Given the description of an element on the screen output the (x, y) to click on. 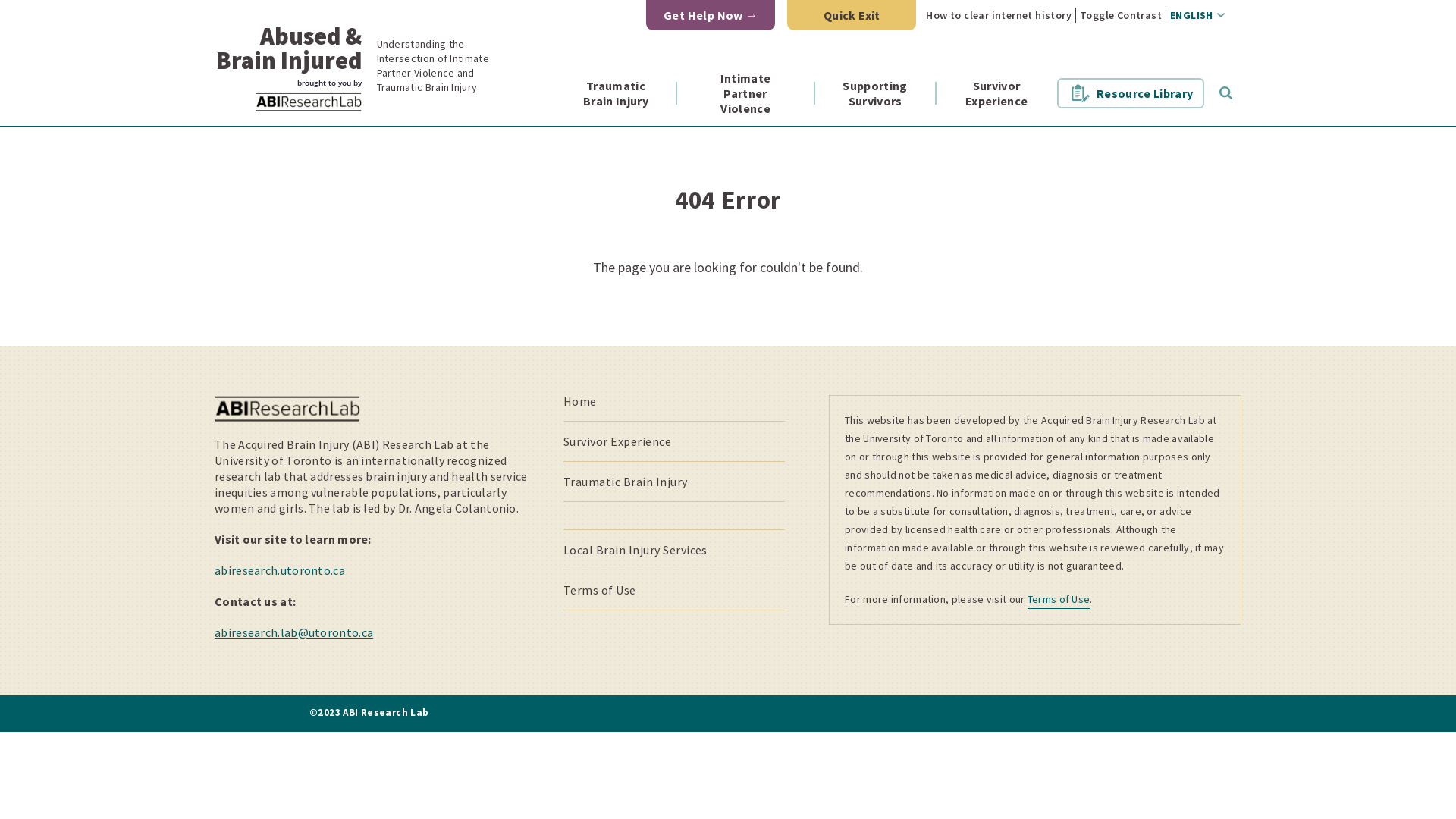
Survivor Experience Element type: text (996, 93)
ENGLISH Element type: text (1195, 14)
Terms of Use Element type: text (599, 589)
Quick Exit Element type: text (851, 15)
abi research lab Element type: text (307, 101)
Traumatic Brain Injury Element type: text (615, 93)
abiresearch.lab@utoronto.ca Element type: text (293, 632)
How to clear internet history Element type: text (998, 14)
abiresearch.utoronto.ca Element type: text (279, 569)
Home Element type: text (579, 400)
Survivor Experience Element type: text (617, 440)
Intimate Partner Violence Element type: text (745, 93)
Local Brain Injury Services Element type: text (635, 549)
Toggle Contrast Element type: text (1120, 14)
Traumatic Brain Injury Element type: text (625, 481)
Resource Library Element type: text (1130, 93)
Terms of Use Element type: text (1058, 598)
Abused & Brain Injured Element type: text (284, 30)
Toggle Search Element type: text (1225, 93)
Supporting Survivors Element type: text (875, 93)
